Given the description of an element on the screen output the (x, y) to click on. 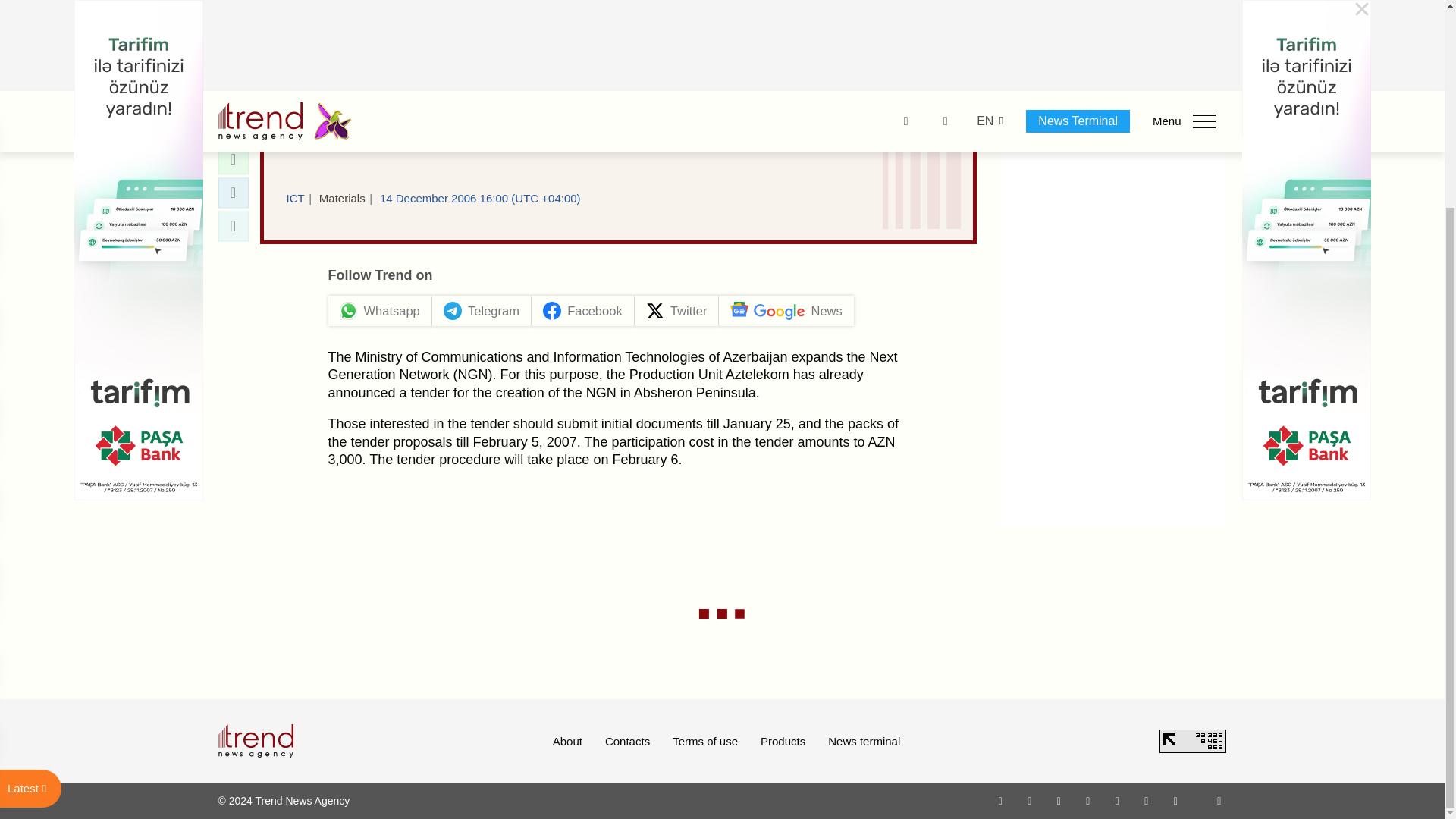
Youtube (1088, 800)
Whatsapp (1000, 800)
Twitter (1059, 800)
RSS Feed (1219, 800)
Telegram (1117, 800)
Android App (1176, 800)
Facebook (1029, 800)
LinkedIn (1146, 800)
